Given the description of an element on the screen output the (x, y) to click on. 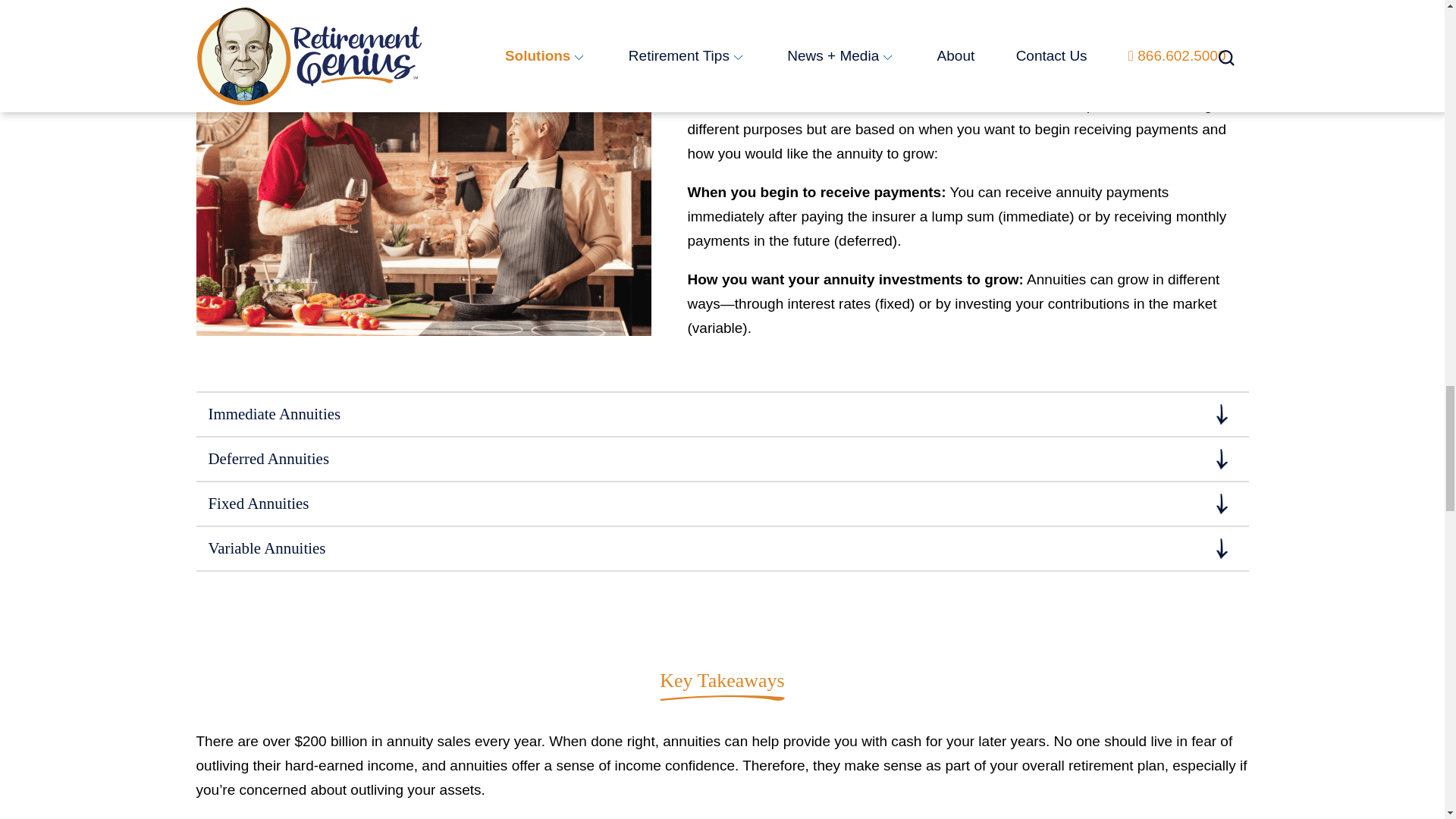
Immediate Annuities (721, 414)
Deferred Annuities (721, 457)
Four basic types of annuities (1021, 56)
Fixed Annuities (721, 503)
Variable Annuities (721, 547)
